Given the description of an element on the screen output the (x, y) to click on. 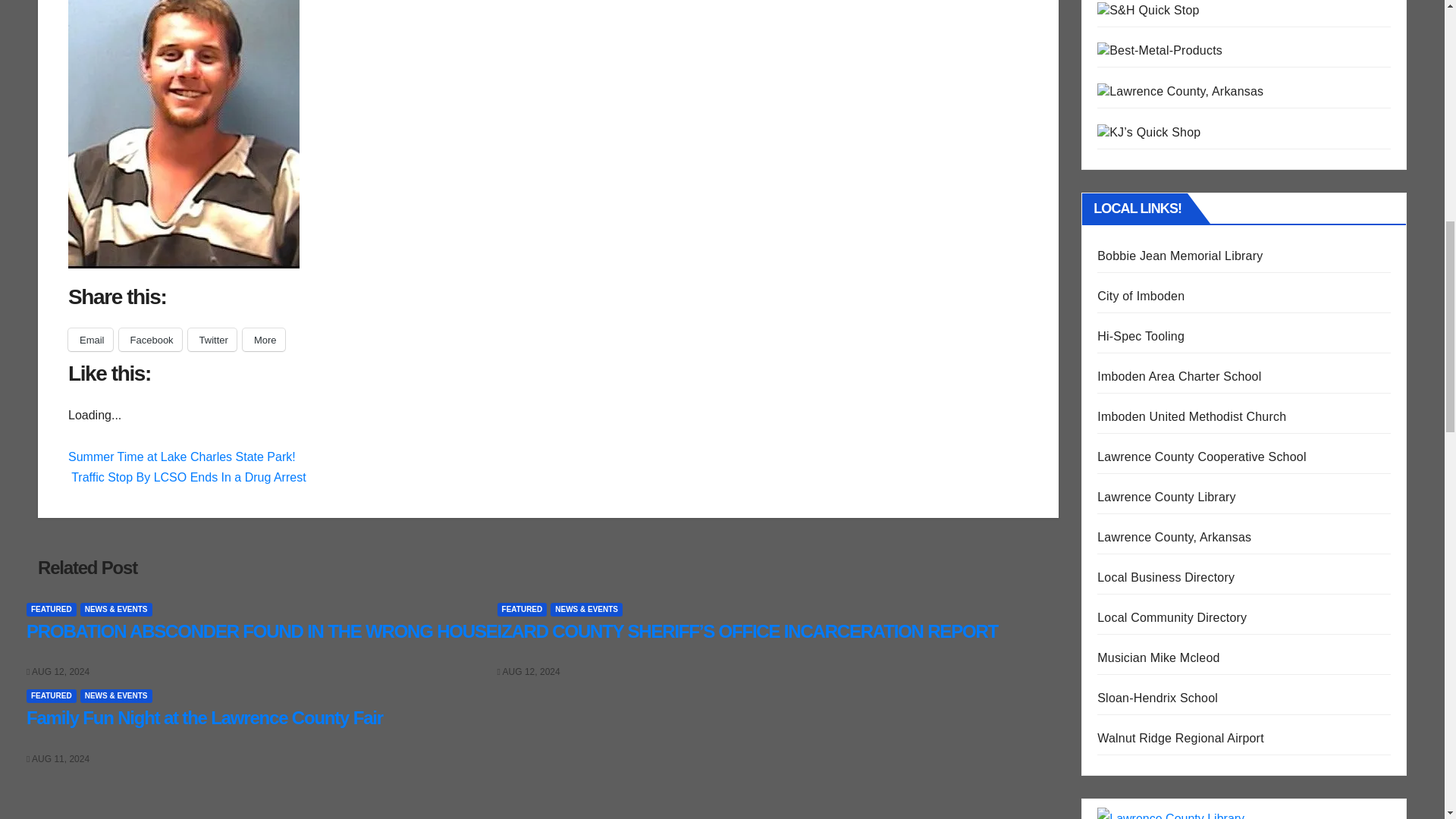
Click to email a link to a friend (90, 339)
Permalink to: PROBATION ABSCONDER FOUND IN THE WRONG HOUSE (261, 630)
Click to share on Twitter (211, 339)
Click to share on Facebook (150, 339)
imboden arkansas public library (1179, 255)
Permalink to: Family Fun Night at the Lawrence County Fair (204, 717)
